Given the description of an element on the screen output the (x, y) to click on. 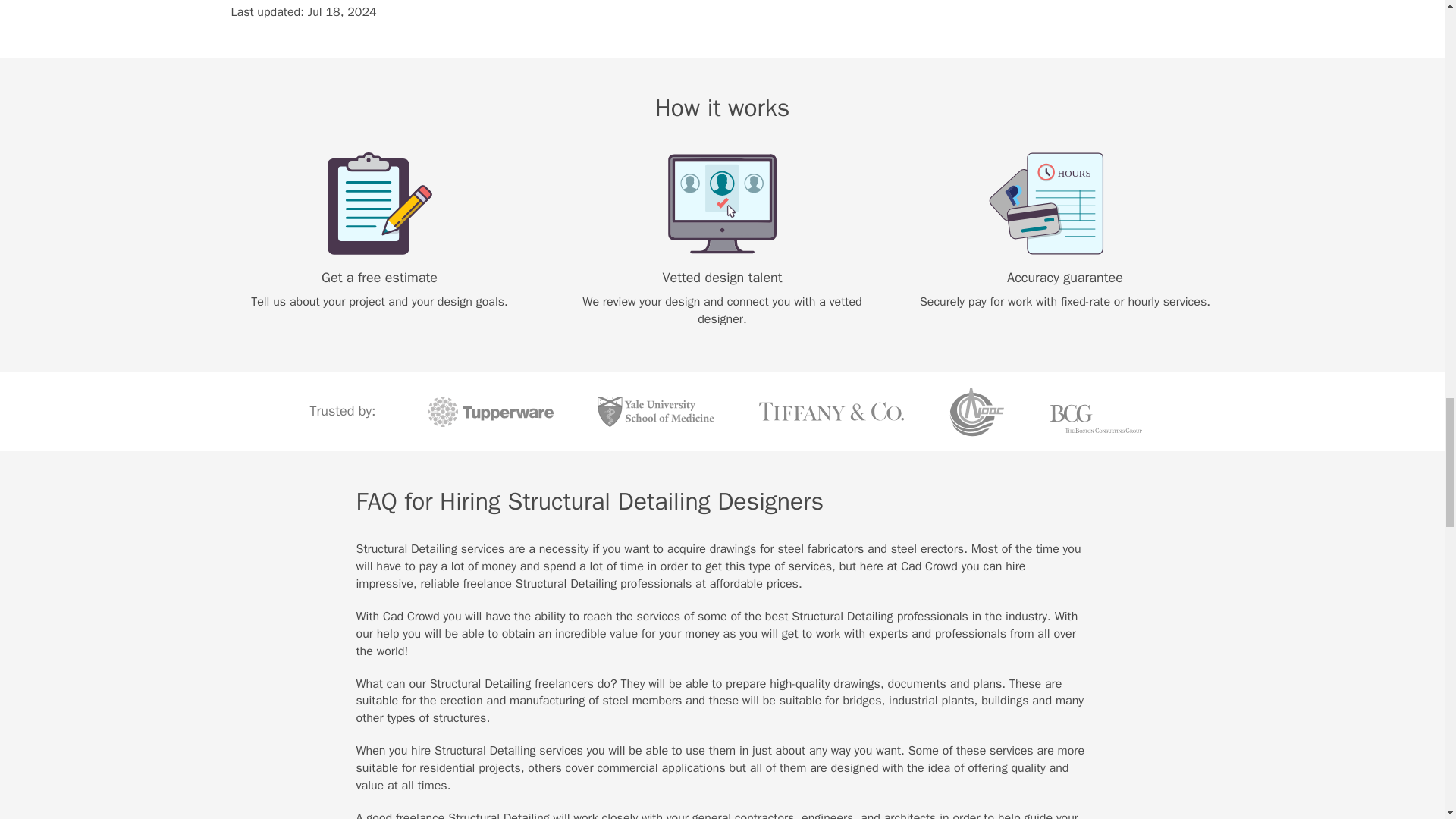
CNOOC Limited (976, 411)
Yale University School of Medicine (655, 411)
Tupperware (490, 411)
The Boston Consulting Group (1096, 411)
